Given the description of an element on the screen output the (x, y) to click on. 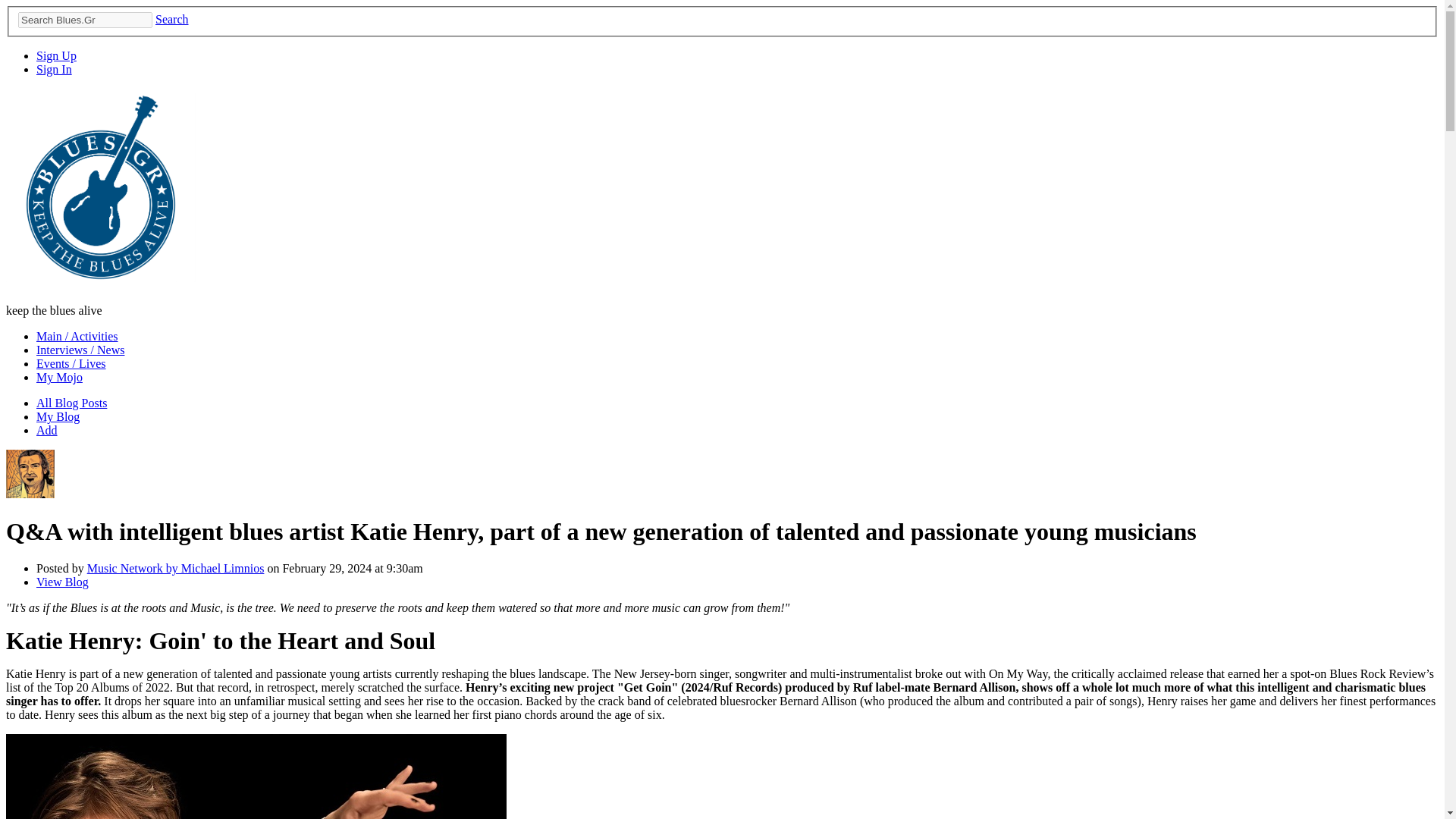
View Blog (62, 581)
Music Network by Michael Limnios (175, 567)
Search Blues.Gr (84, 19)
My Mojo (59, 377)
Add (47, 430)
Music Network by Michael Limnios (30, 493)
All Blog Posts (71, 402)
Posted by (61, 567)
on February 29, 2024 at 9:30am (342, 567)
Search Blues.Gr (84, 19)
